Given the description of an element on the screen output the (x, y) to click on. 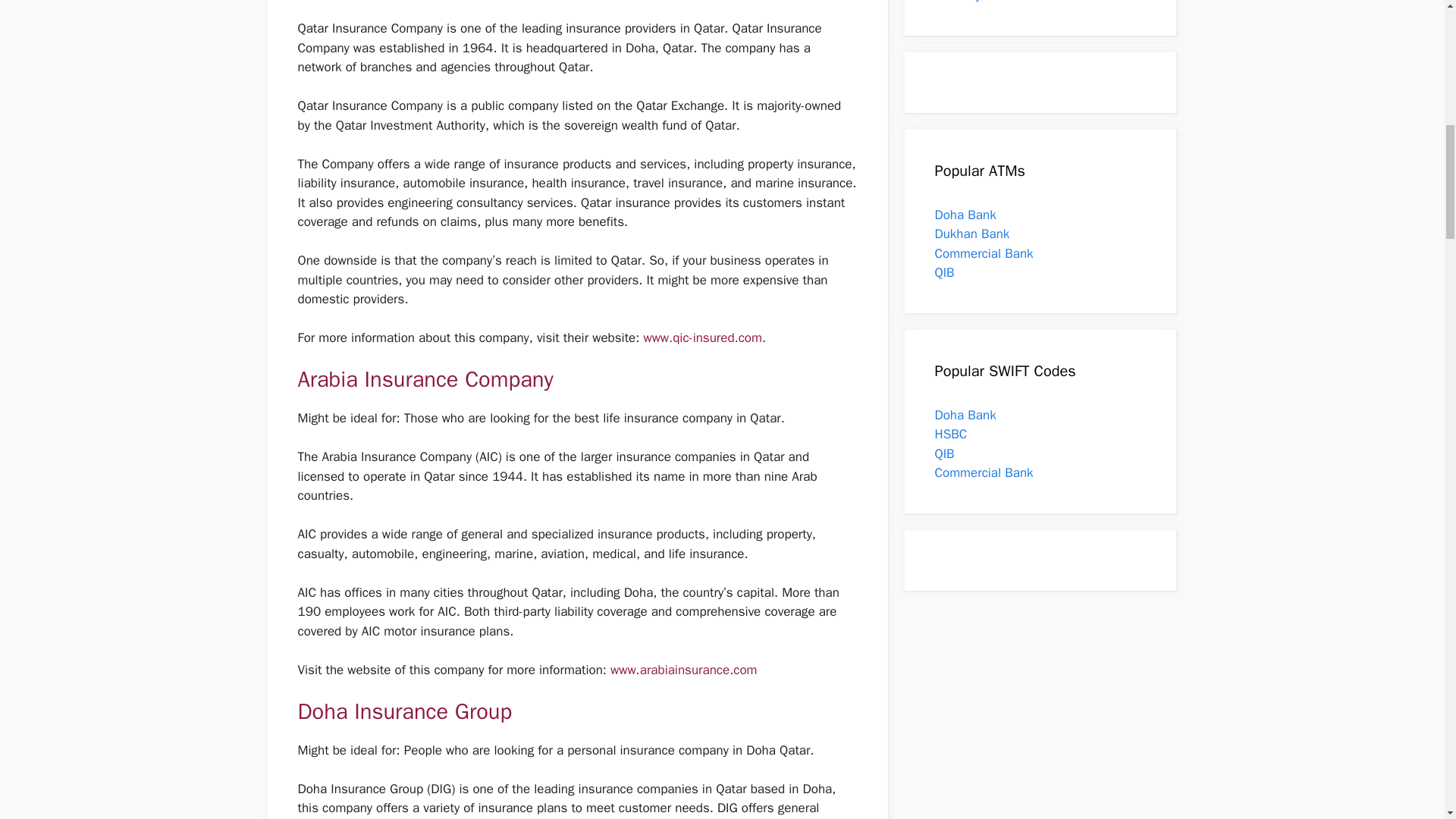
www.arabiainsurance.com (683, 669)
www.qic-insured.com (702, 337)
